Given the description of an element on the screen output the (x, y) to click on. 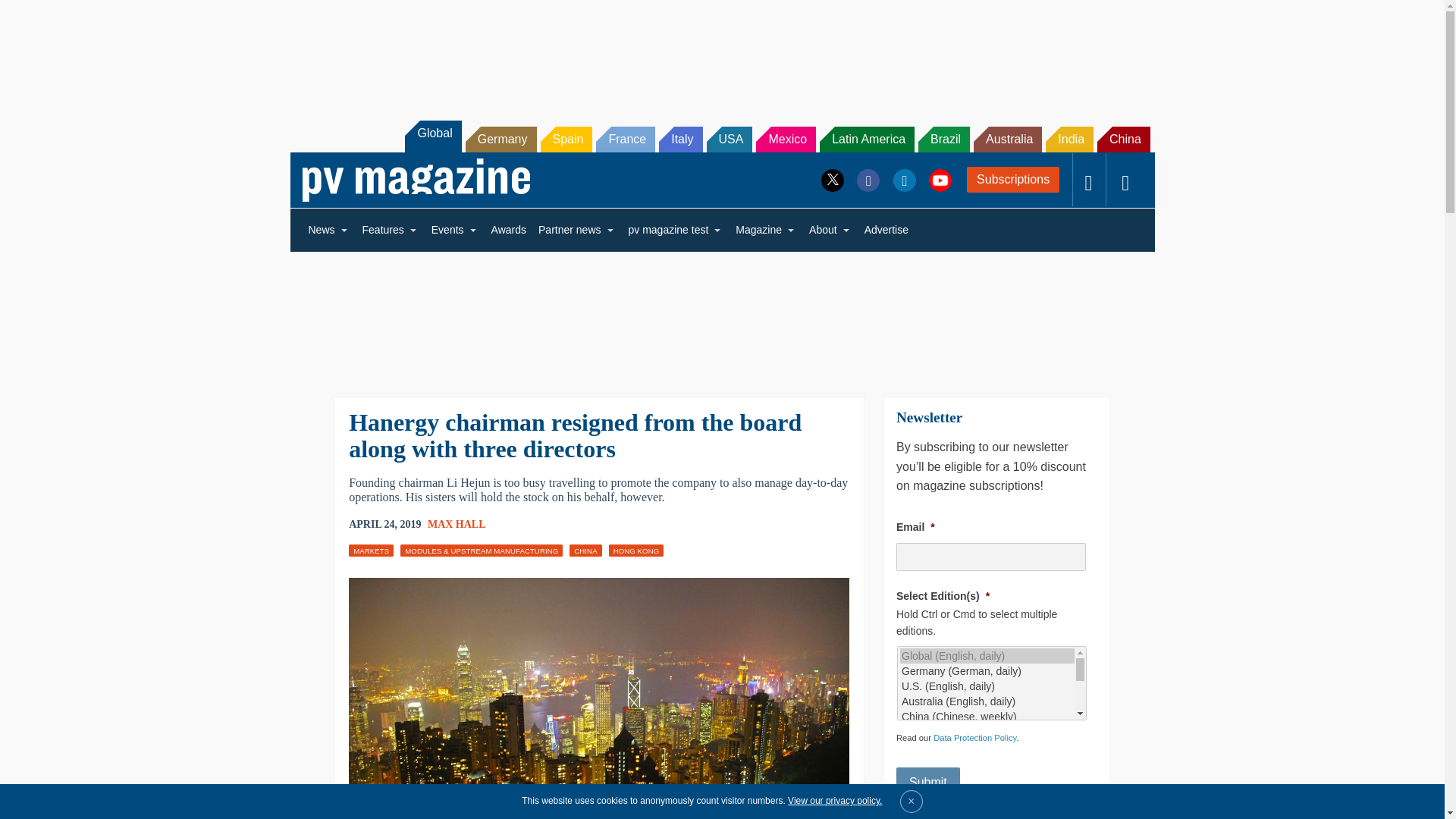
Posts by Max Hall (457, 523)
Search (32, 15)
Brazil (943, 139)
pv magazine - Photovoltaics Markets and Technology (415, 180)
Australia (1008, 139)
Subscriptions (1012, 179)
Germany (501, 139)
Wednesday, April 24, 2019, 2:20 pm (384, 524)
Latin America (866, 139)
Global (432, 136)
pv magazine - Photovoltaics Markets and Technology (415, 179)
Spain (566, 139)
Mexico (785, 139)
USA (729, 139)
France (625, 139)
